Given the description of an element on the screen output the (x, y) to click on. 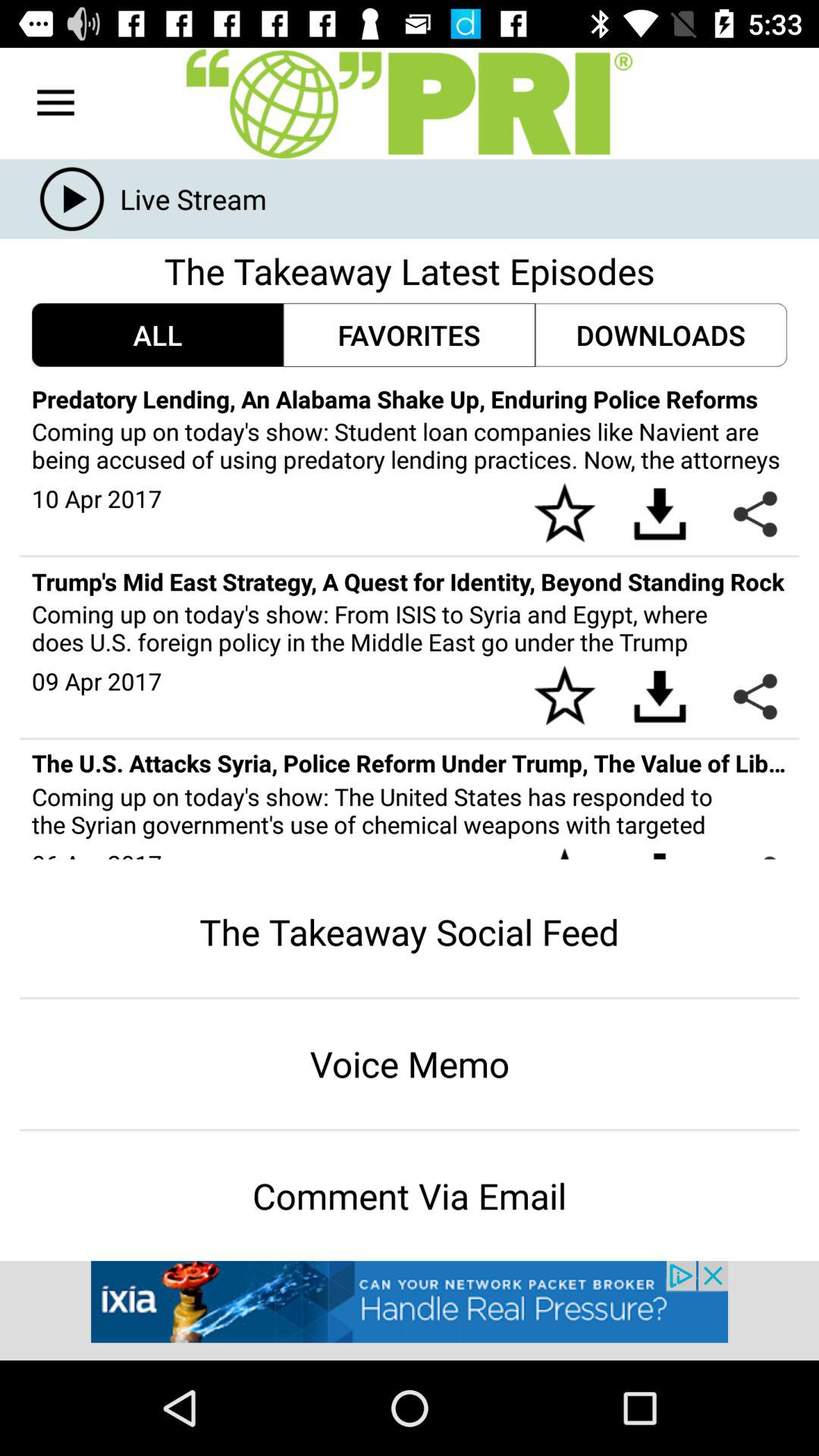
advertisement option (409, 1310)
